Given the description of an element on the screen output the (x, y) to click on. 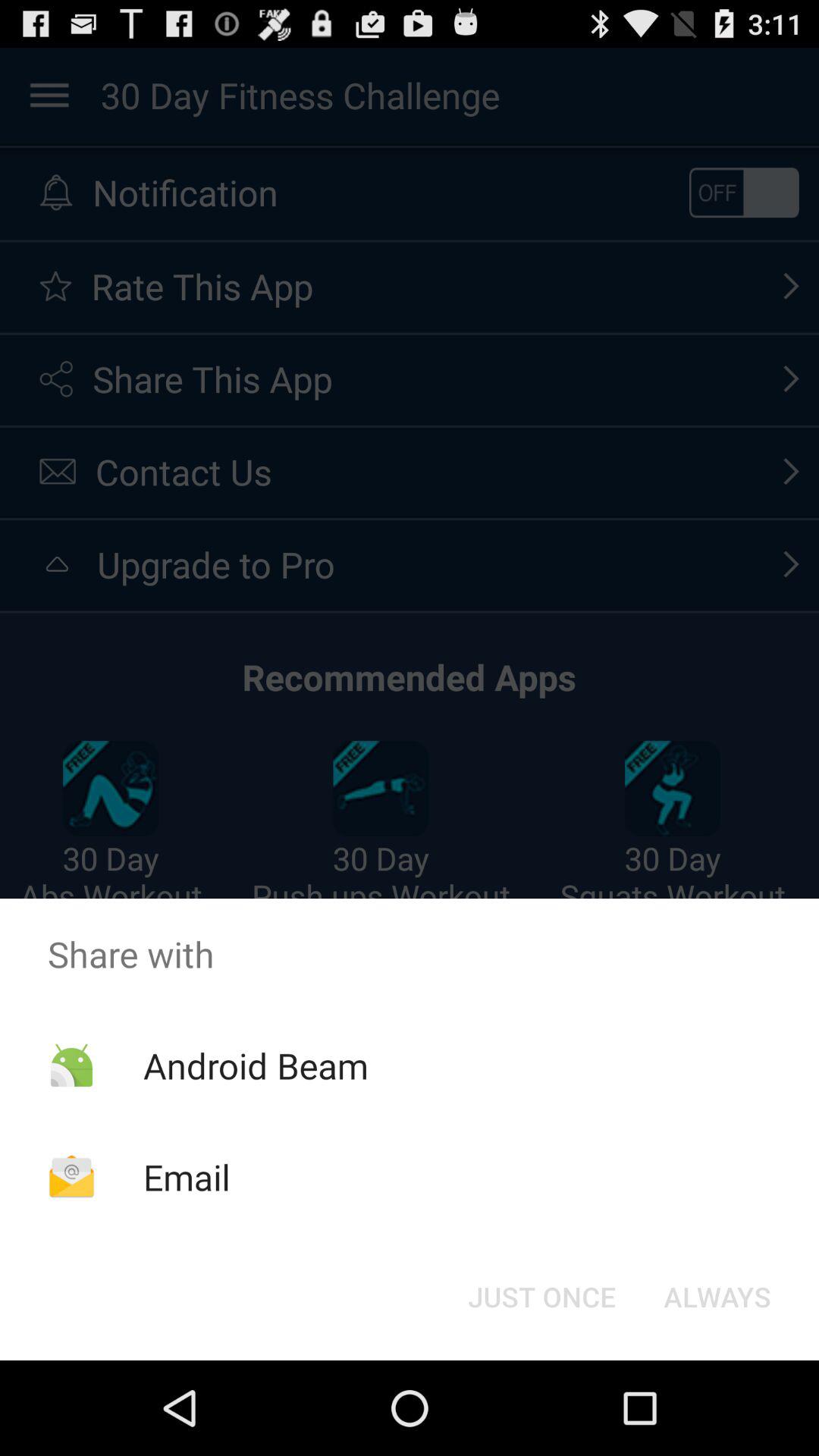
click item below the share with (541, 1296)
